Given the description of an element on the screen output the (x, y) to click on. 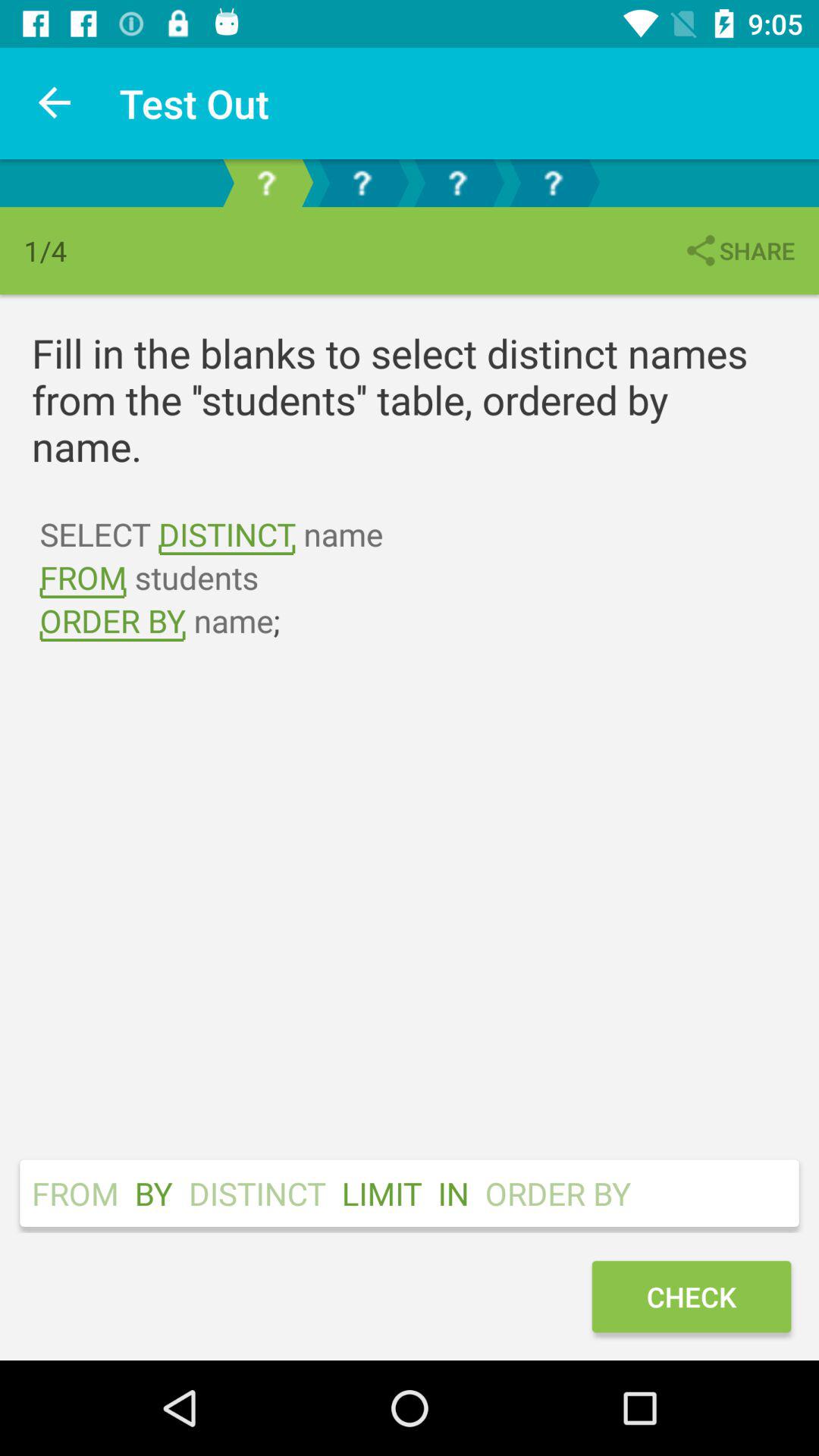
press the icon next to the test out icon (55, 103)
